Given the description of an element on the screen output the (x, y) to click on. 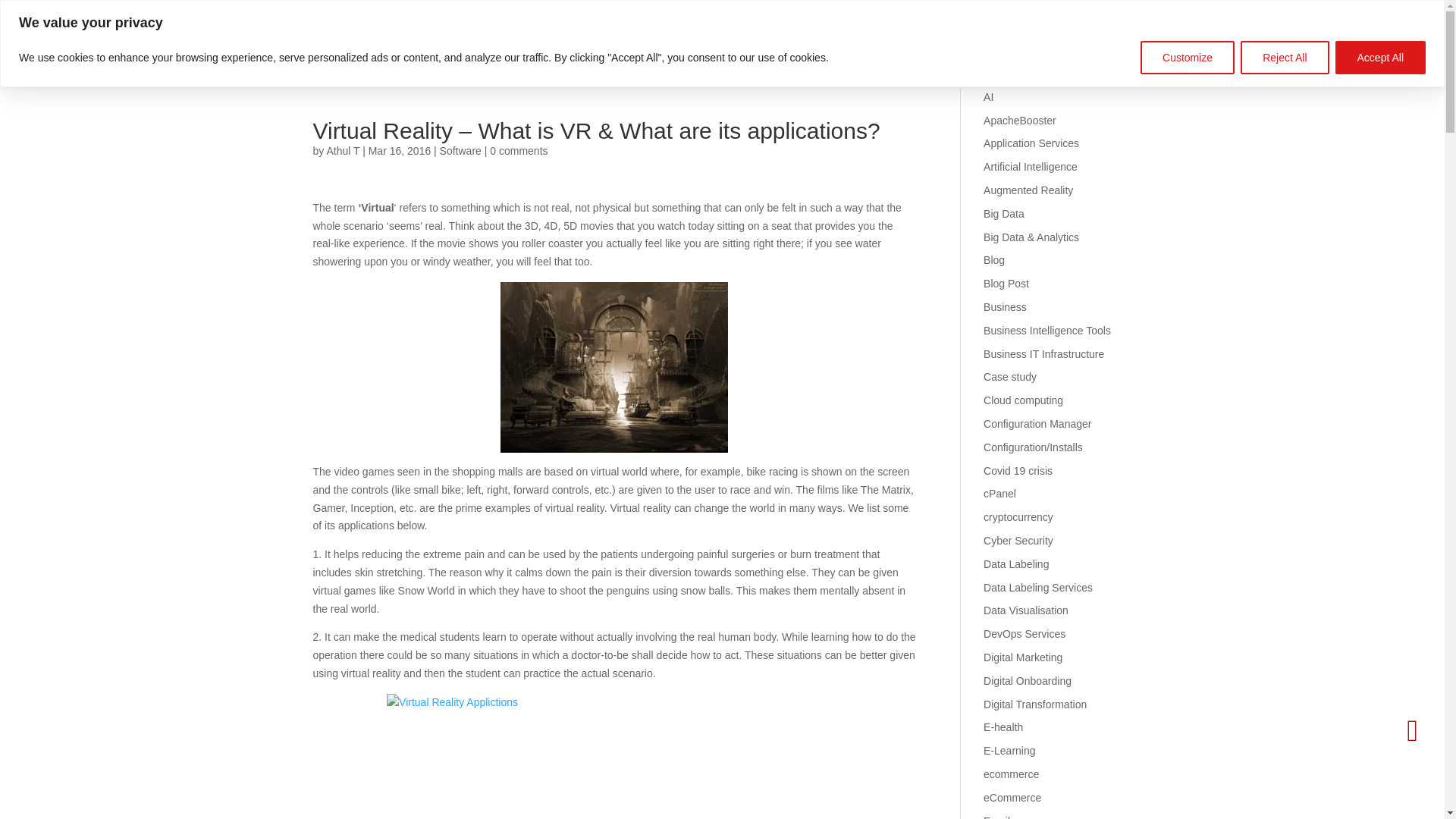
What we do (200, 56)
Follow on Facebook (1295, 11)
Accept All (1380, 57)
Follow on Pinterest (1363, 11)
Customize (1187, 57)
Follow on Instagram (1340, 11)
Insights (378, 56)
Careers (449, 56)
Who We Are (295, 56)
Posts by Athul T (342, 150)
